Given the description of an element on the screen output the (x, y) to click on. 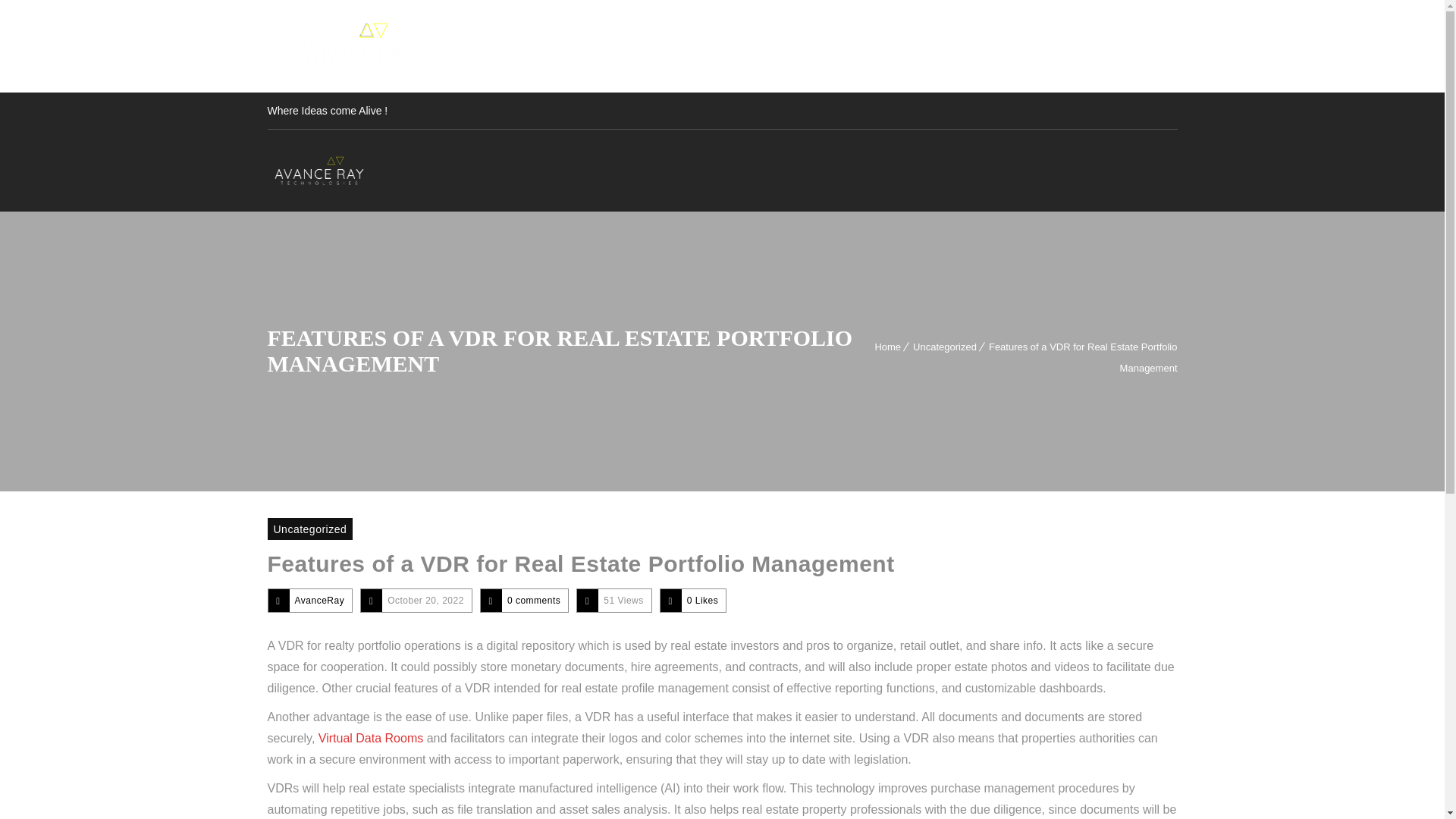
AvanceRay (318, 600)
About Us (873, 46)
Home (801, 46)
AvanceRay Technologies (319, 170)
Contact Us (1121, 46)
0 Likes (703, 600)
Home (888, 346)
Virtual Data Rooms (370, 738)
0 comments (533, 600)
Features (1034, 46)
Uncategorized (944, 346)
Uncategorized (309, 528)
Services (954, 46)
Features of a VDR for Real Estate Portfolio Management (579, 563)
View all posts by AvanceRay (318, 600)
